Given the description of an element on the screen output the (x, y) to click on. 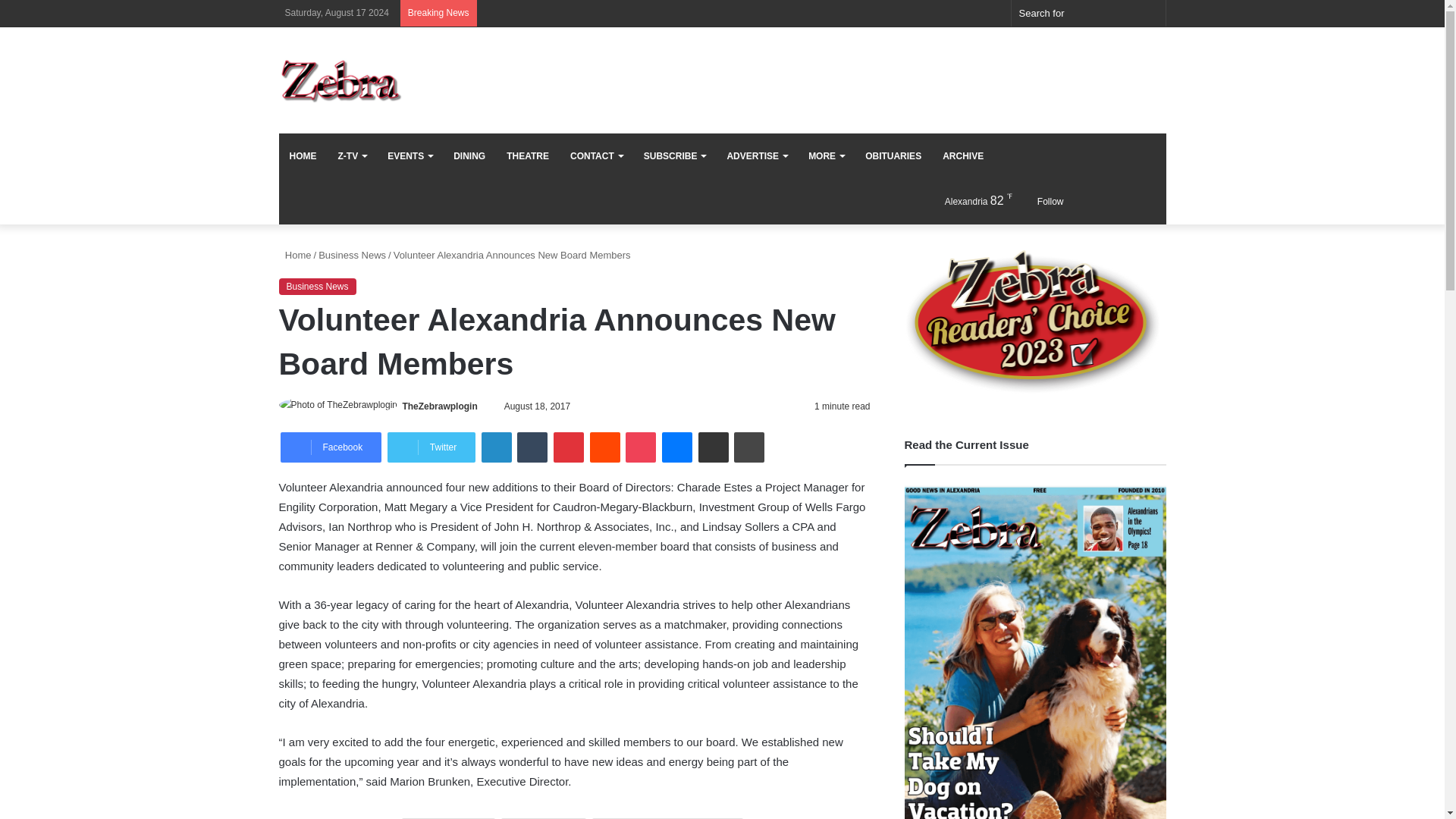
Search for (1088, 13)
Twitter (431, 447)
ADVERTISE (756, 156)
Pinterest (568, 447)
CONTACT (596, 156)
Scattered Clouds (964, 200)
Pocket (641, 447)
Z-TV (352, 156)
Tumblr (531, 447)
DINING (469, 156)
